Given the description of an element on the screen output the (x, y) to click on. 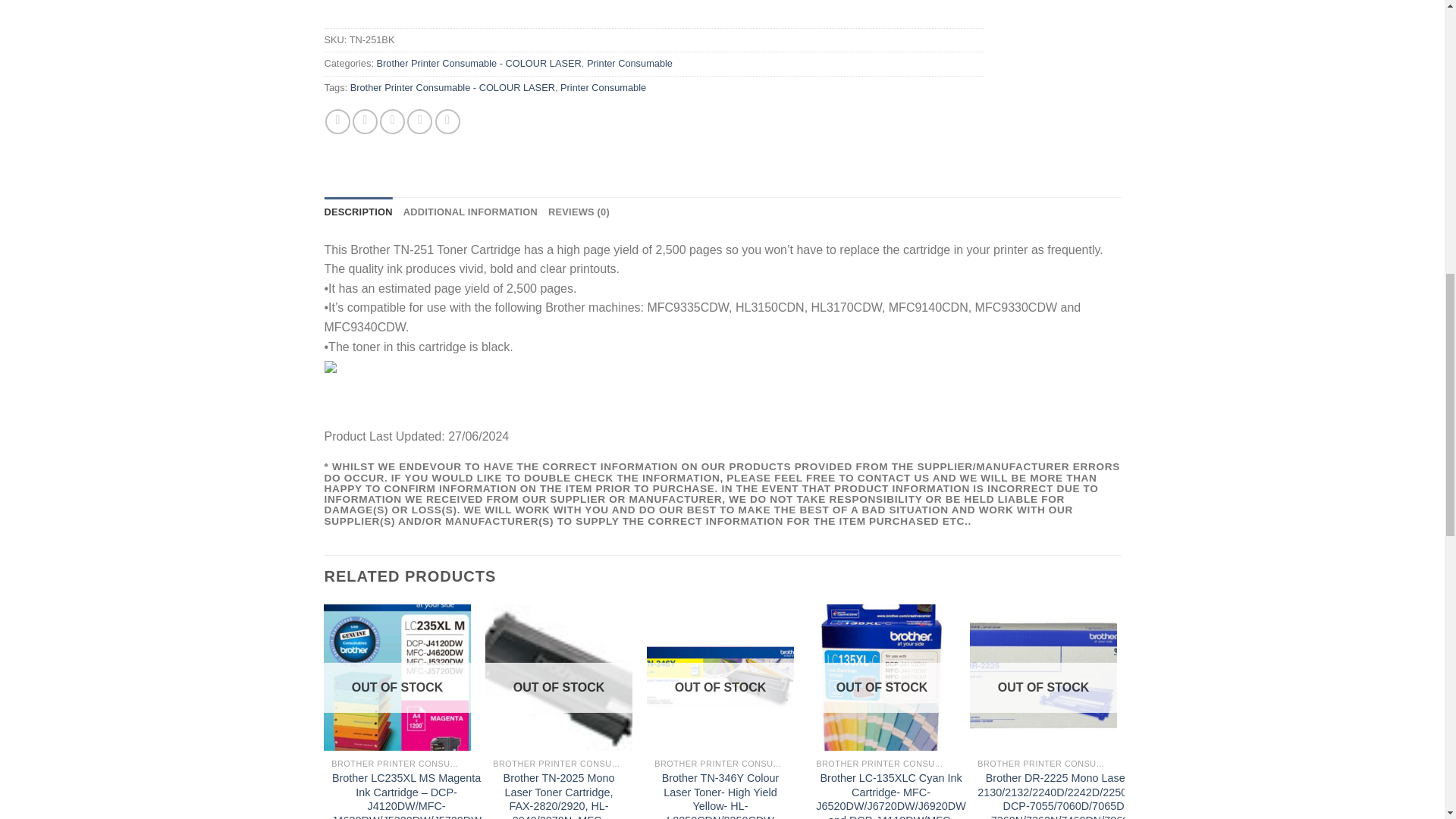
Email to a Friend (392, 121)
Printer Consumable (603, 87)
Share on LinkedIn (447, 121)
Pin on Pinterest (419, 121)
Printer Consumable (629, 62)
Brother Printer Consumable - COLOUR LASER (477, 62)
Share on Twitter (364, 121)
Brother Printer Consumable - COLOUR LASER (452, 87)
Share on Facebook (337, 121)
